Given the description of an element on the screen output the (x, y) to click on. 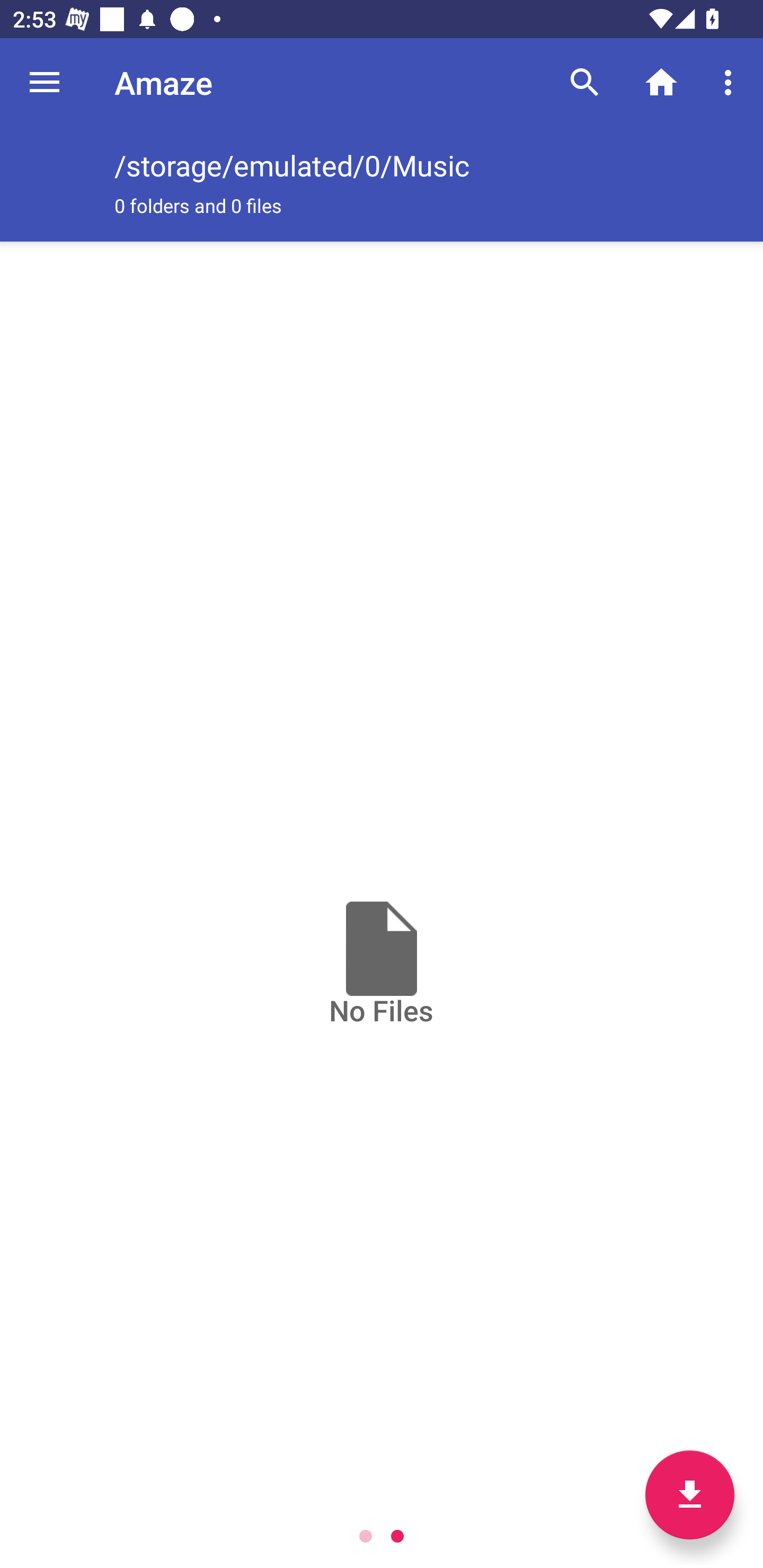
Navigate up (44, 82)
Search (585, 81)
Home (661, 81)
More options (731, 81)
